Given the description of an element on the screen output the (x, y) to click on. 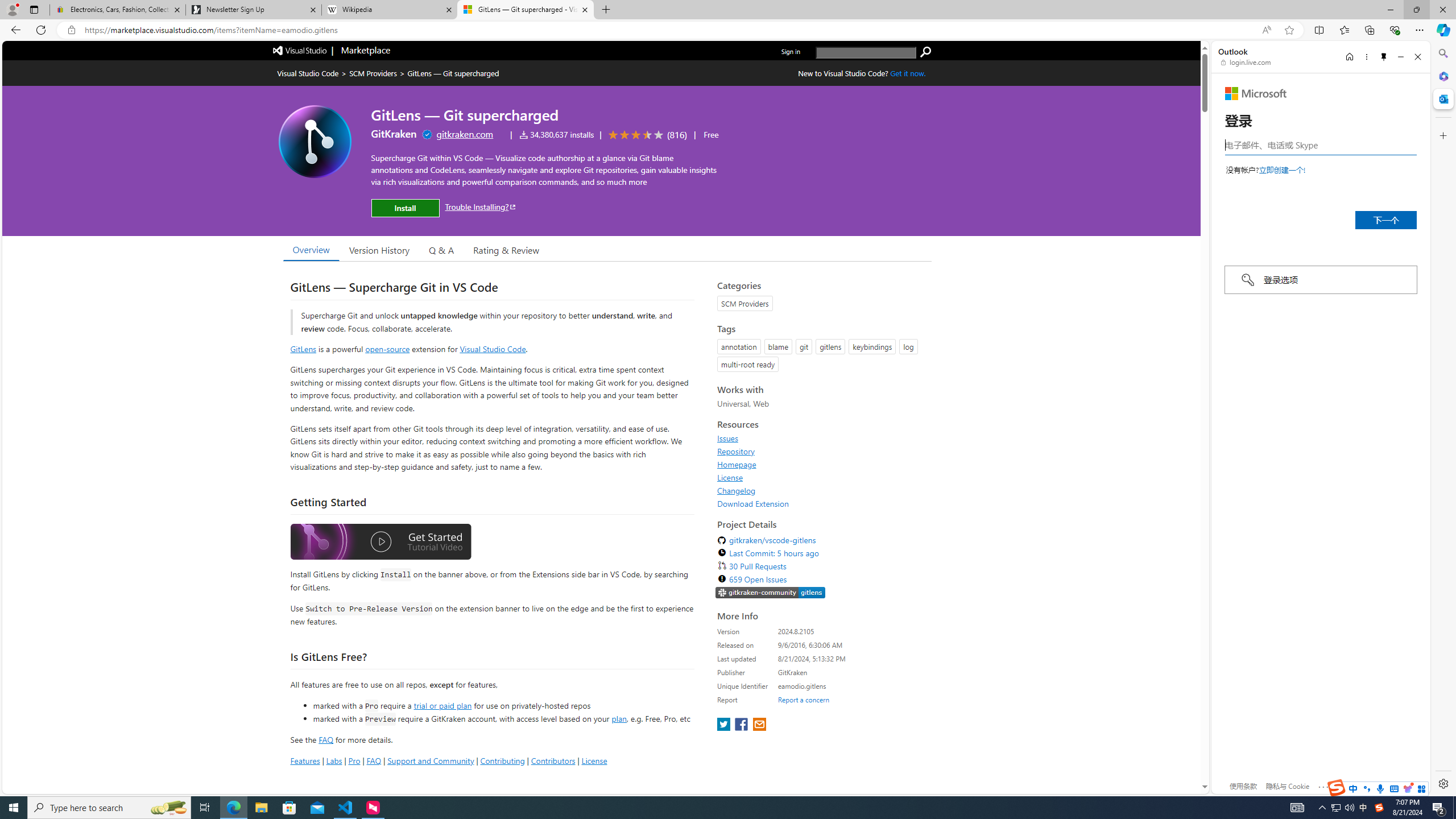
Labs (334, 760)
Microsoft 365 (1442, 76)
share extension on twitter (724, 725)
Unpin side pane (1383, 56)
Visual Studio Code (492, 348)
Contributing (502, 760)
Homepage (737, 464)
plan (618, 718)
Home (1348, 56)
Repository (735, 451)
